Given the description of an element on the screen output the (x, y) to click on. 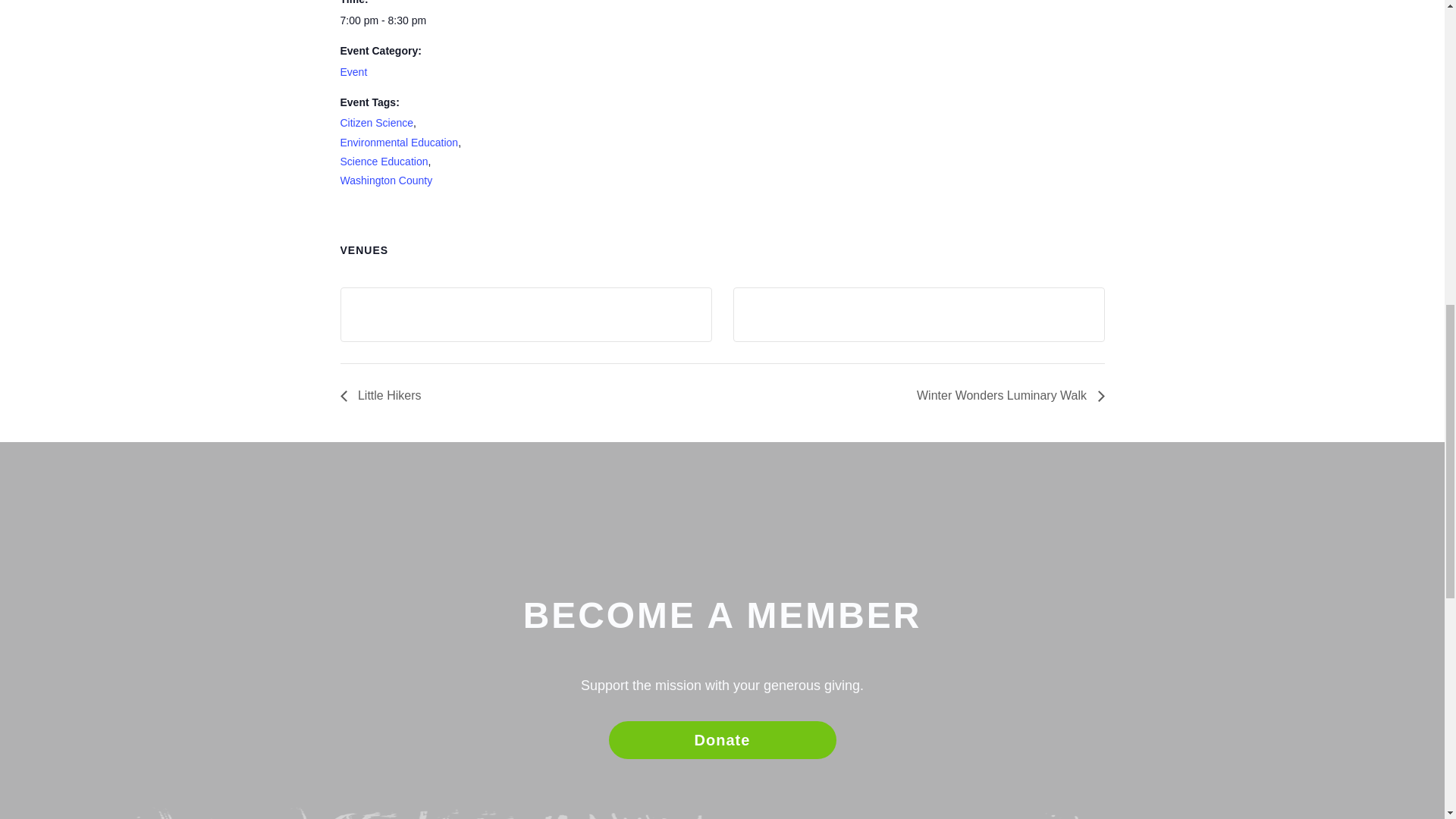
2019-01-08 (403, 20)
